Given the description of an element on the screen output the (x, y) to click on. 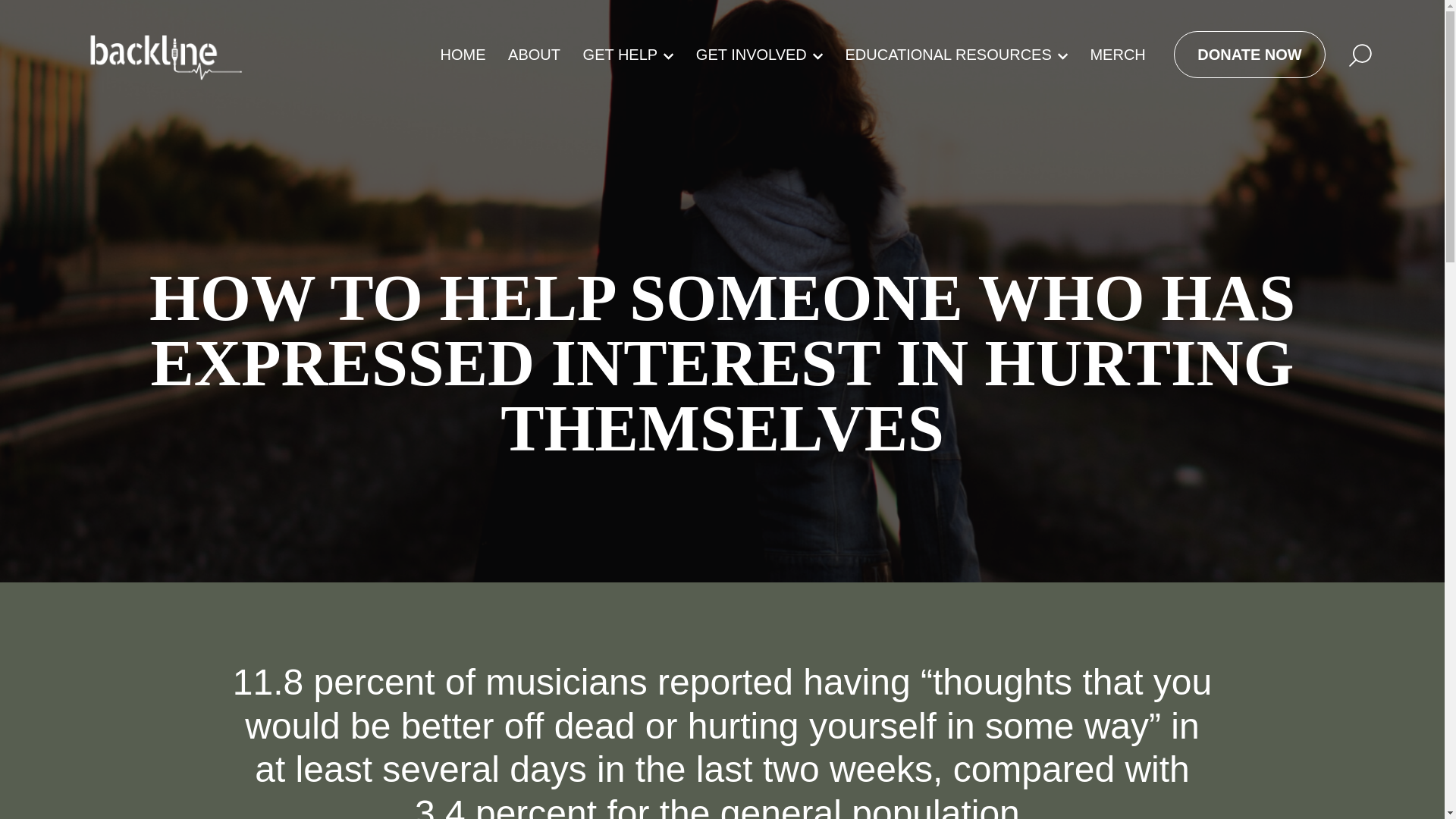
HOME (462, 55)
GET HELP (627, 55)
ABOUT (534, 55)
